Given the description of an element on the screen output the (x, y) to click on. 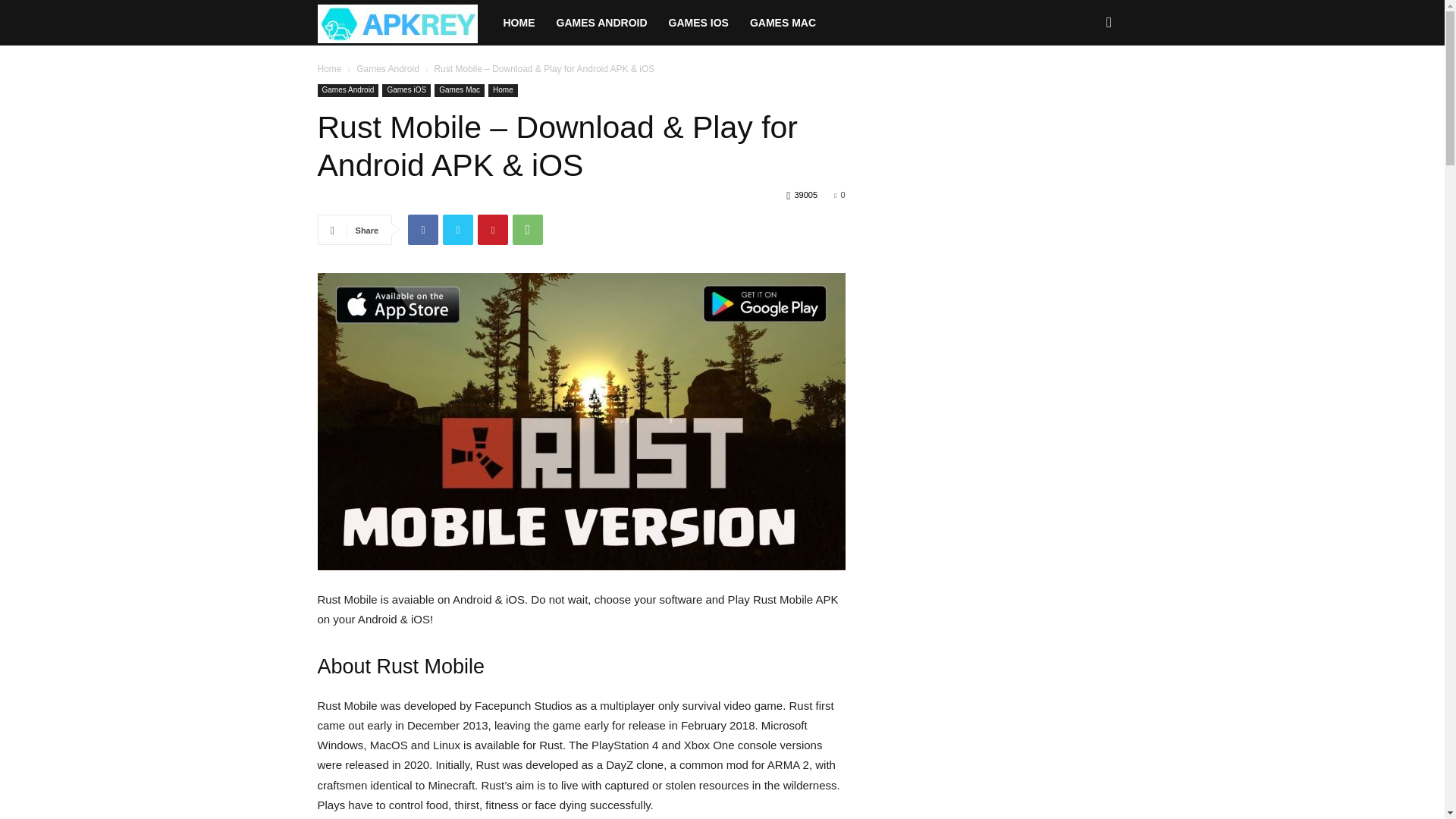
HOME (519, 22)
Facebook (422, 229)
Games Android (387, 68)
Games Android (347, 90)
Games iOS (405, 90)
Games Mac (458, 90)
View all posts in Games Android (387, 68)
GAMES IOS (698, 22)
Search (1085, 87)
Twitter (457, 229)
WhatsApp (527, 229)
0 (839, 194)
Home (502, 90)
GAMES ANDROID (602, 22)
